Given the description of an element on the screen output the (x, y) to click on. 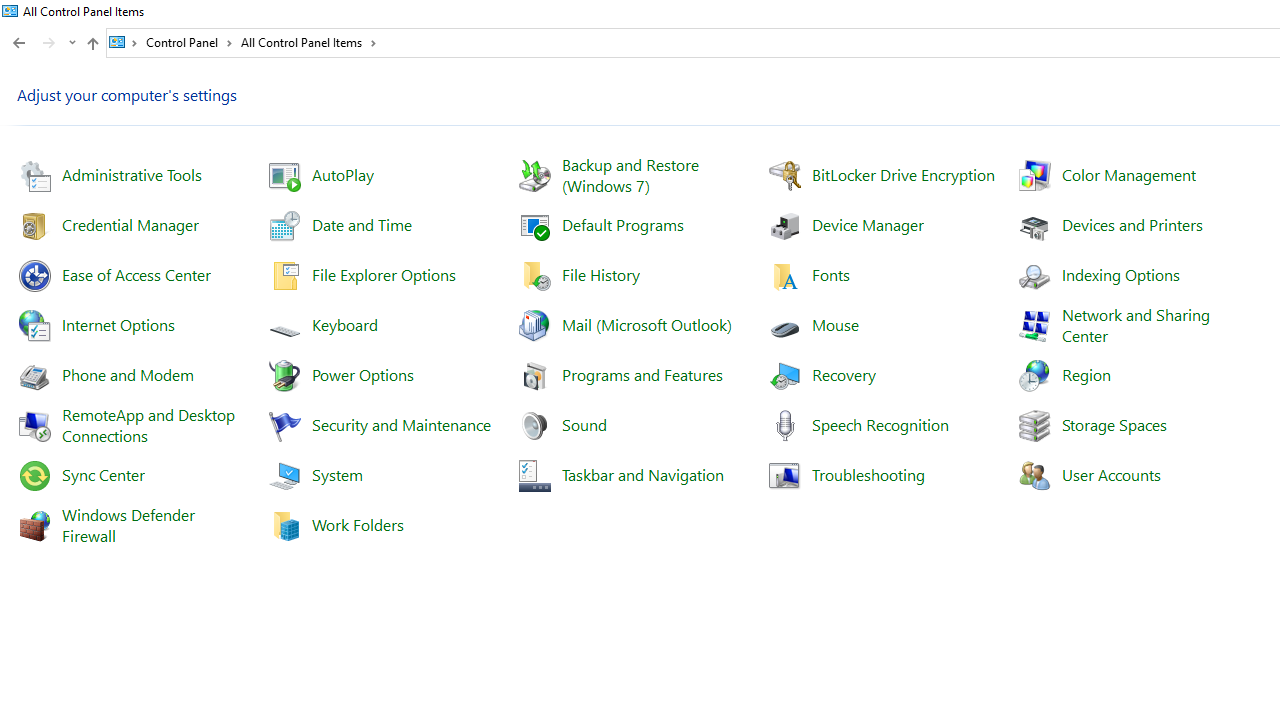
Sound (584, 423)
System (10, 11)
RemoteApp and Desktop Connections (150, 424)
Speech Recognition (880, 423)
Recovery (844, 374)
Sync Center (103, 474)
Storage Spaces (1113, 423)
Security and Maintenance (400, 423)
Power Options (362, 374)
All Control Panel Items (308, 42)
Programs and Features (642, 374)
Backup and Restore (Windows 7) (632, 174)
Network and Sharing Center (1137, 324)
Navigation buttons (41, 43)
Device Manager (867, 223)
